Given the description of an element on the screen output the (x, y) to click on. 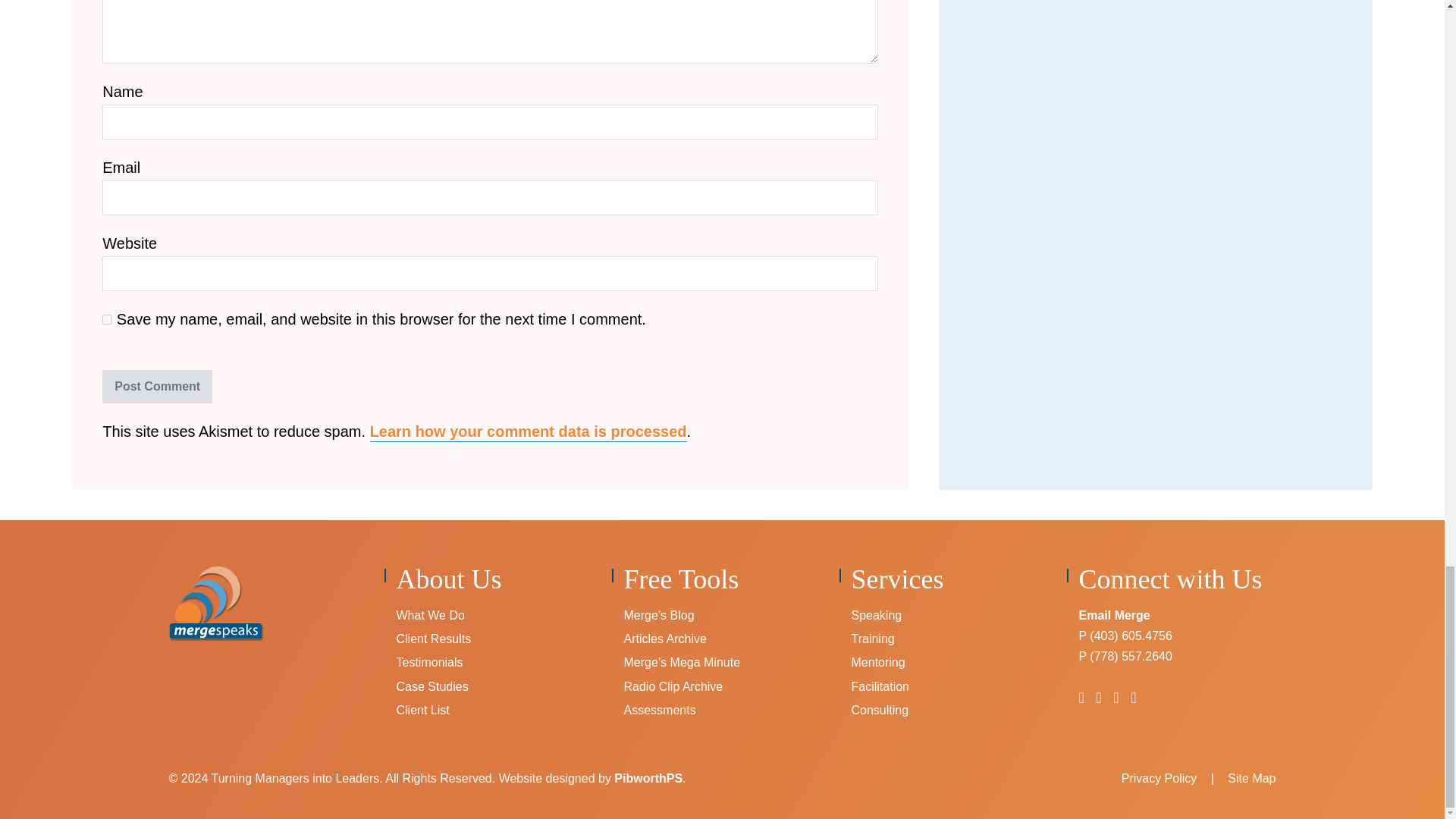
Post Comment (156, 386)
yes (106, 319)
merge-speaks-logo (215, 603)
